Given the description of an element on the screen output the (x, y) to click on. 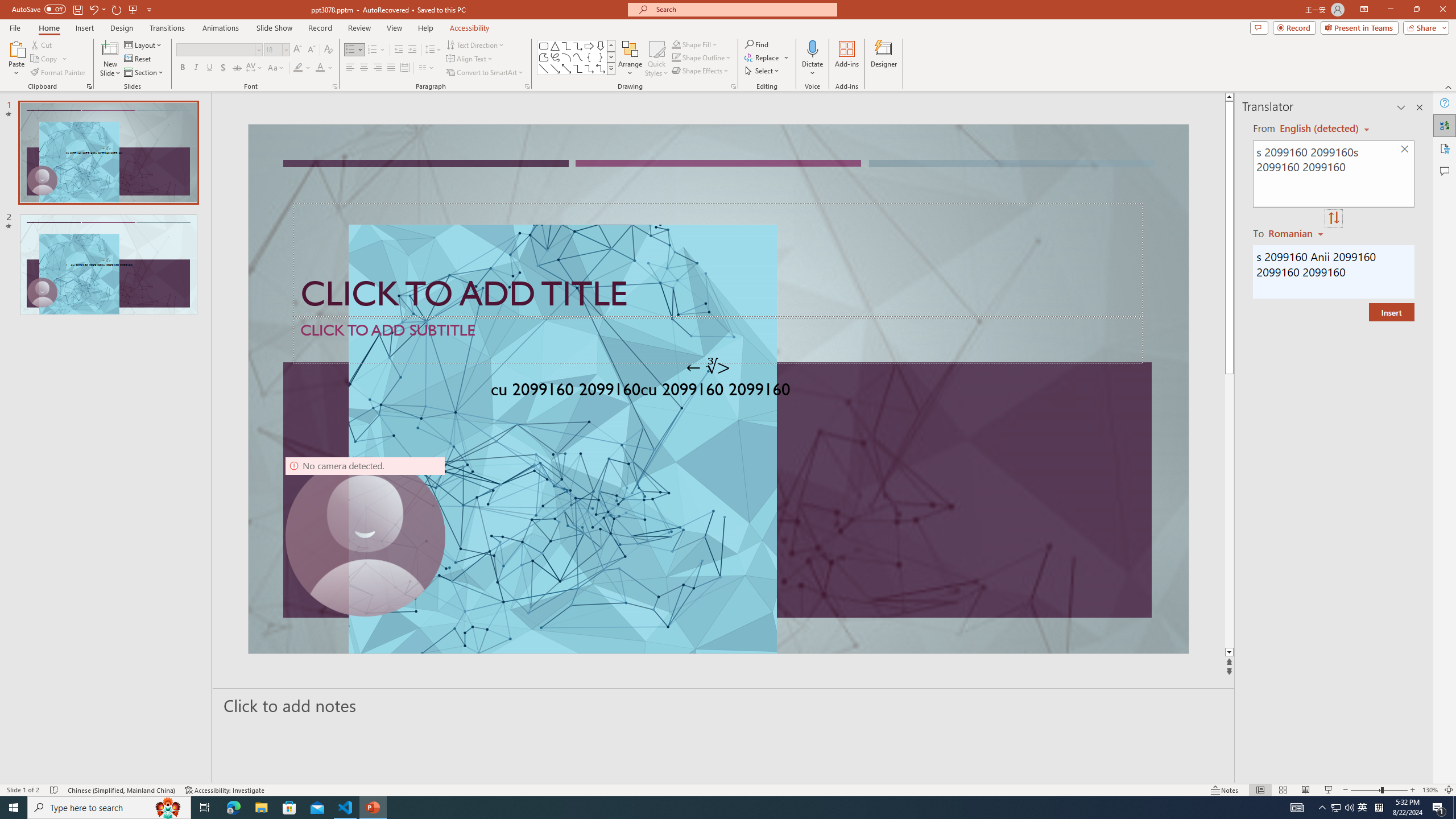
Connector: Elbow Double-Arrow (600, 68)
TextBox 61 (716, 391)
